Given the description of an element on the screen output the (x, y) to click on. 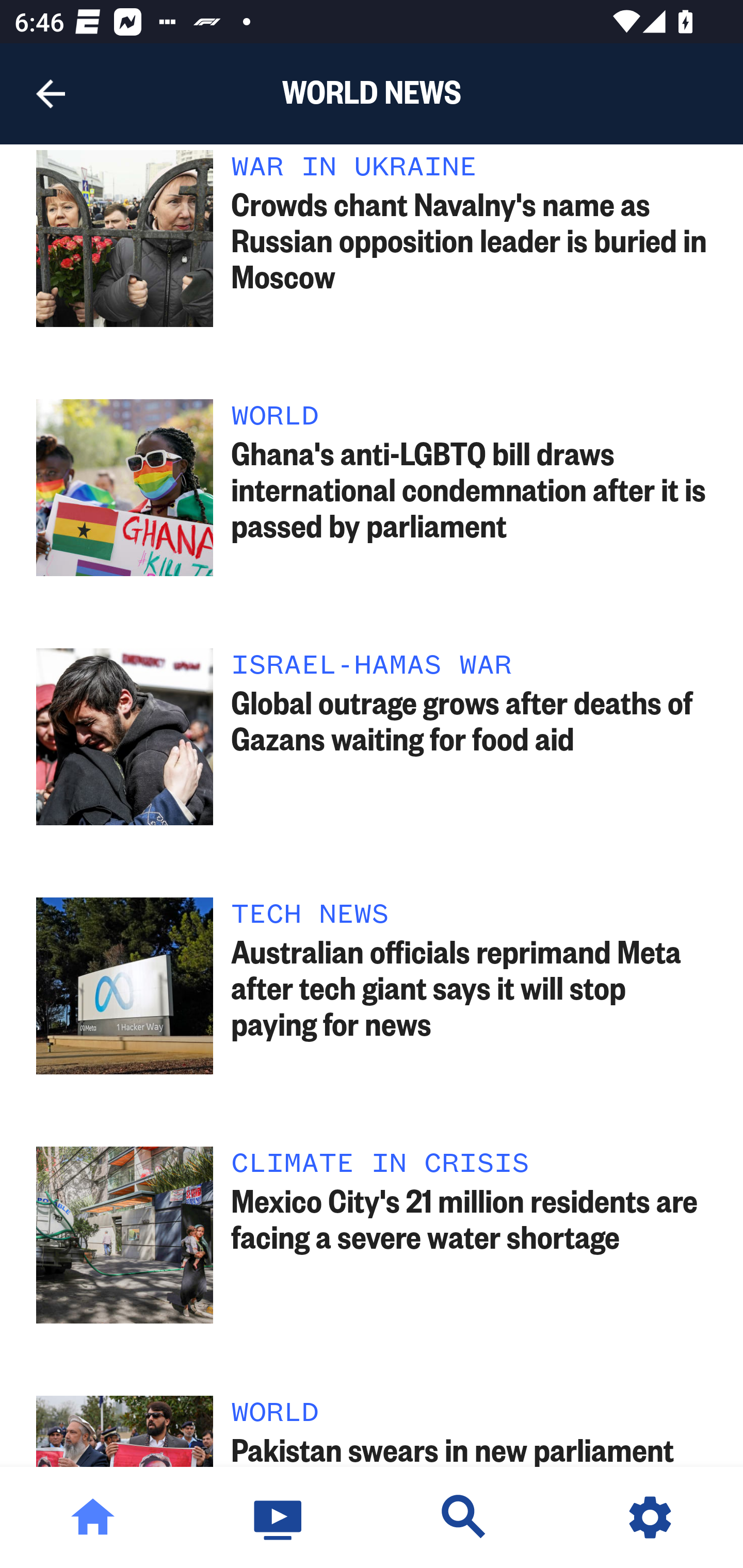
Navigate up (50, 93)
Watch (278, 1517)
Discover (464, 1517)
Settings (650, 1517)
